Given the description of an element on the screen output the (x, y) to click on. 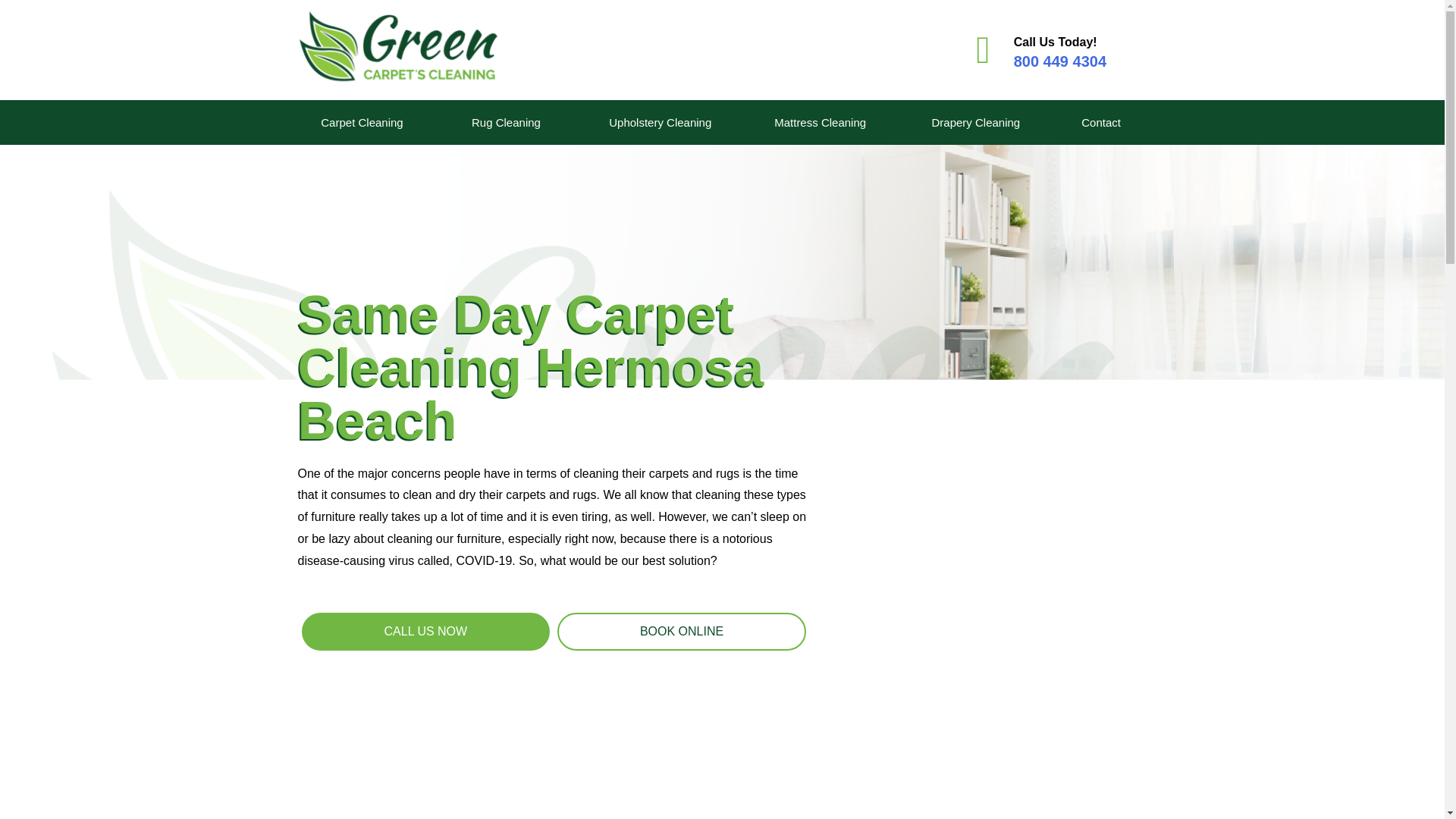
BOOK ONLINE (681, 631)
Call Us Today! (1055, 42)
800 449 4304 (1059, 61)
Mattress Cleaning (819, 122)
Contact (1100, 122)
Rug Cleaning (505, 122)
CALL US NOW (425, 631)
Drapery Cleaning (975, 122)
Upholstery Cleaning (660, 122)
Carpet Cleaning (361, 122)
